Given the description of an element on the screen output the (x, y) to click on. 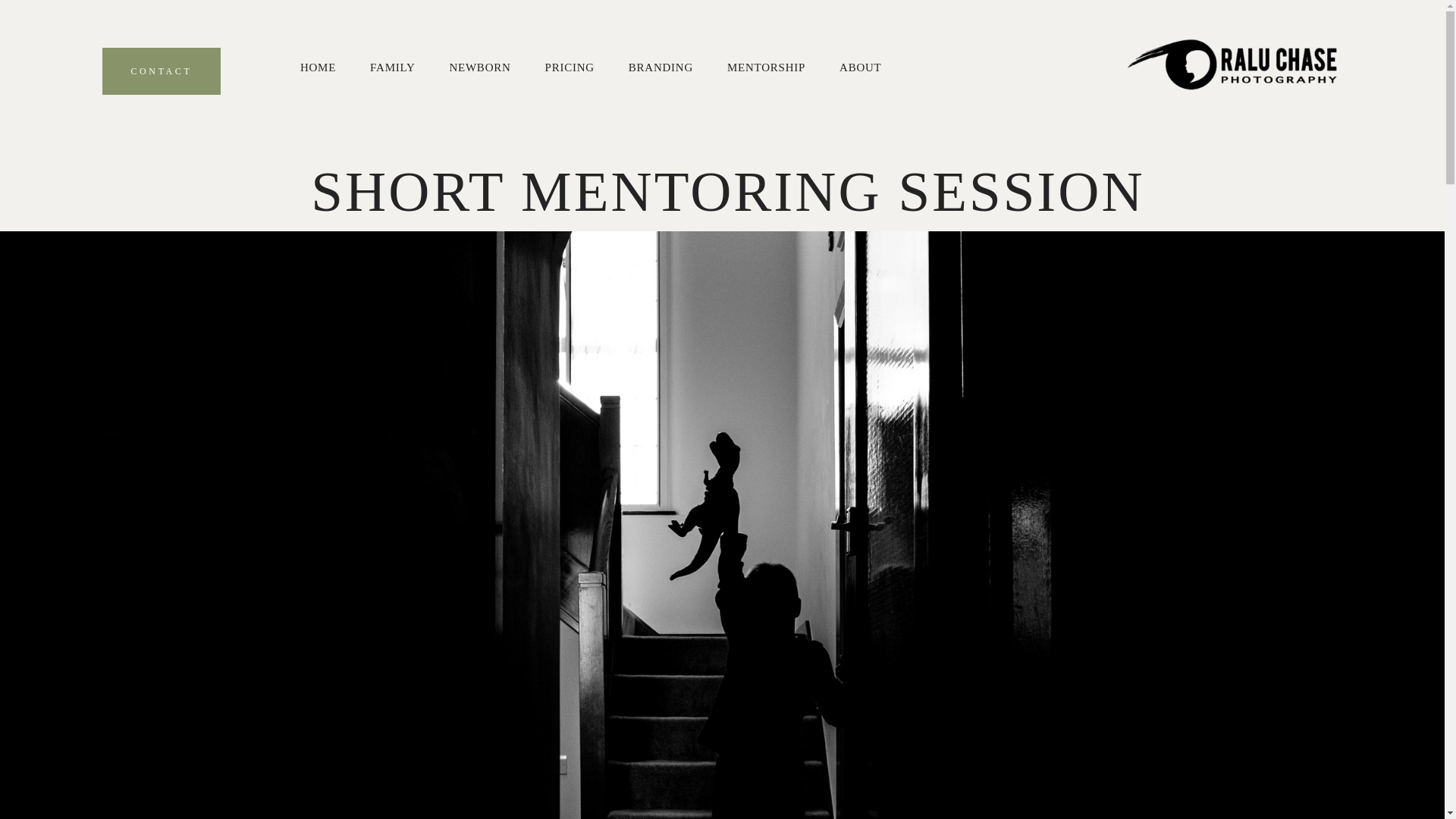
PRICING (569, 68)
CONTACT (161, 71)
MENTORSHIP (765, 68)
HOME (317, 68)
FAMILY (391, 68)
BRANDING (660, 68)
ABOUT (860, 68)
NEWBORN (479, 68)
